Given the description of an element on the screen output the (x, y) to click on. 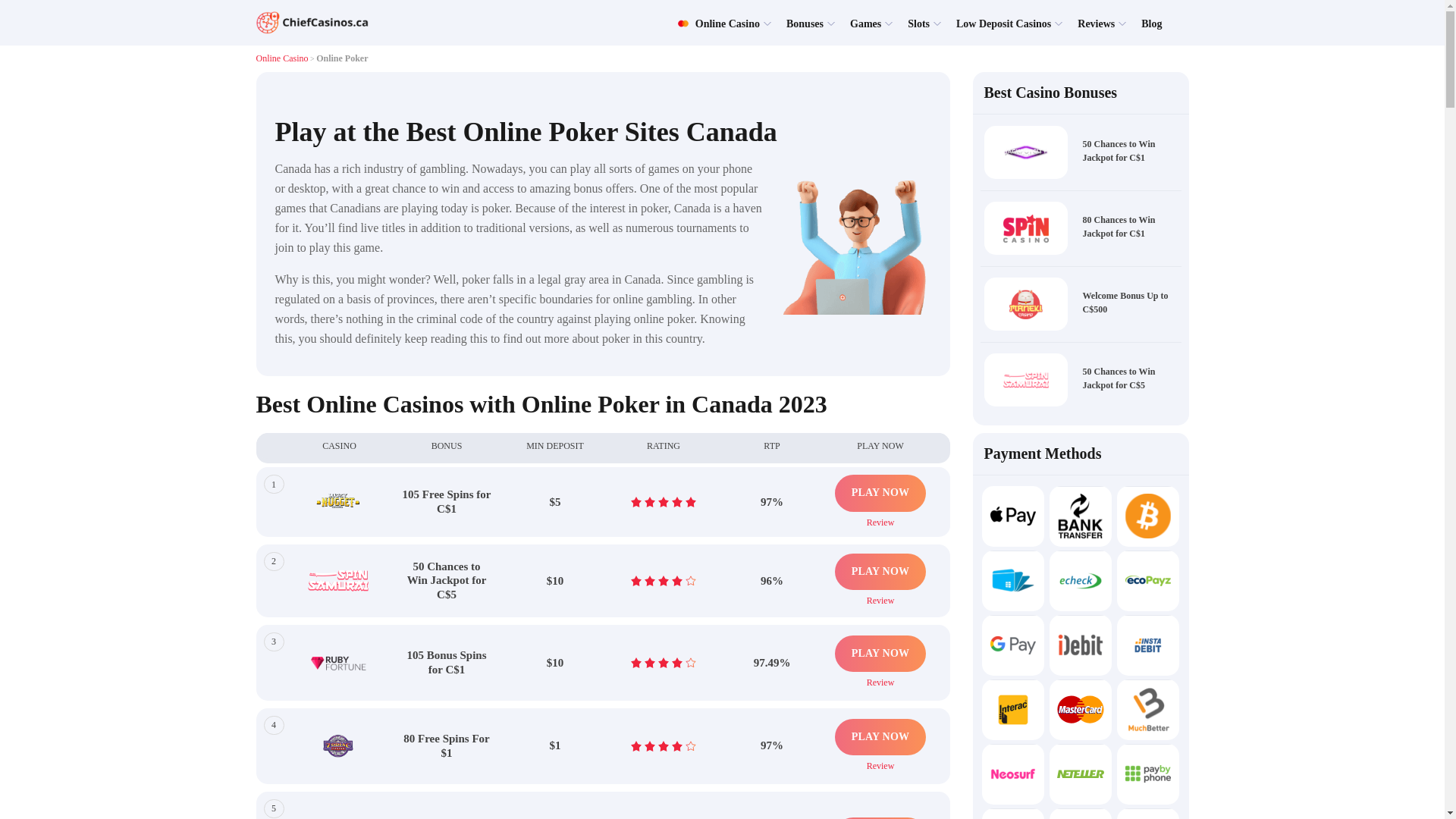
Low Deposit Casinos (1003, 23)
Slots (918, 23)
Review (880, 520)
Online Casino (282, 58)
PLAY NOW (880, 493)
Online Casino (718, 23)
PLAY NOW (880, 571)
Blog (1151, 23)
Bonuses (805, 23)
